Given the description of an element on the screen output the (x, y) to click on. 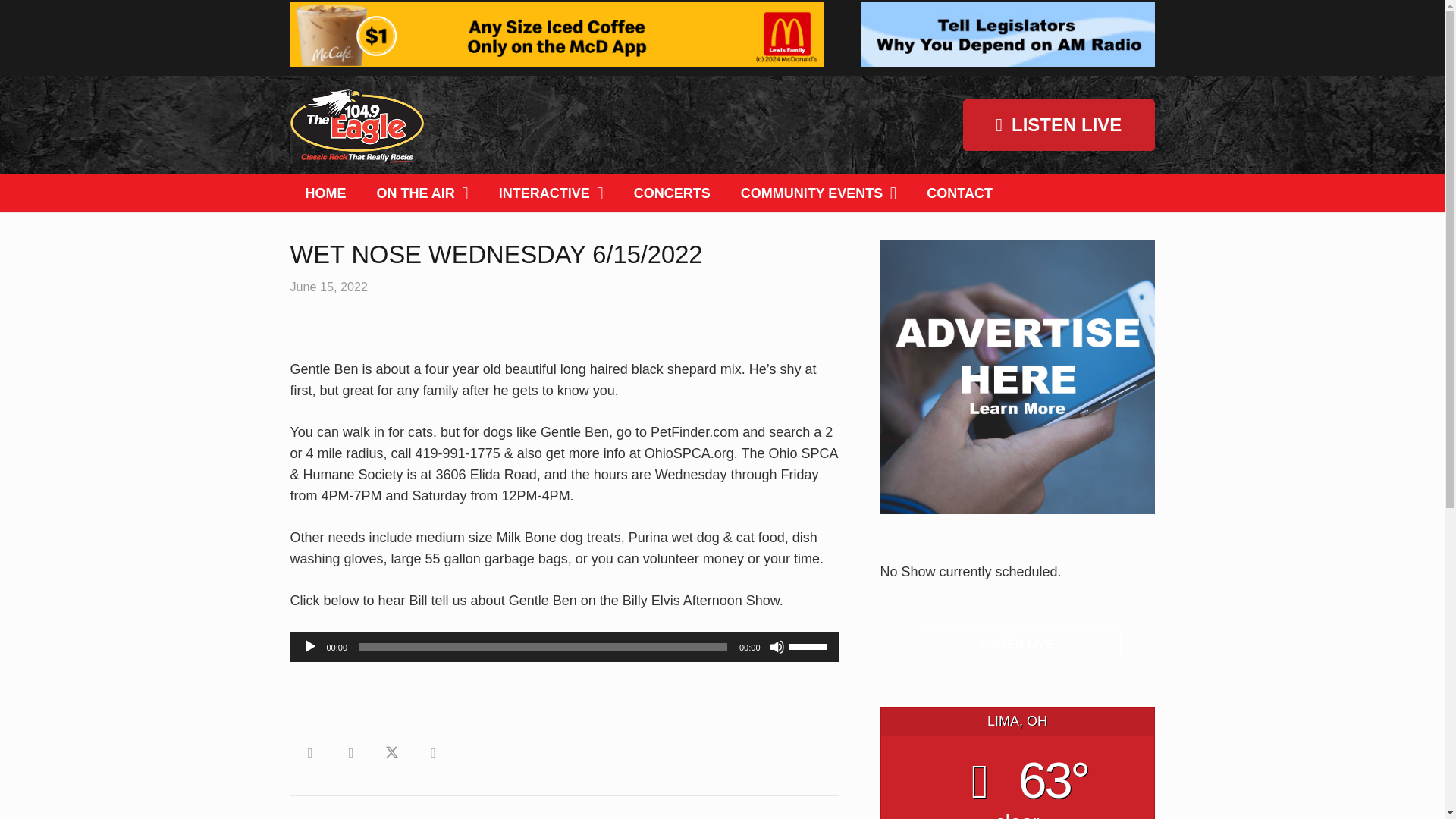
LISTEN LIVE (1058, 124)
Tweet this (391, 752)
INTERACTIVE (550, 193)
HOME (325, 193)
Mute (776, 646)
Share this (350, 752)
Share this (432, 752)
COMMUNITY EVENTS (818, 193)
CONCERTS (671, 193)
Play (309, 646)
ON THE AIR (422, 193)
LISTEN LIVE (1017, 643)
Email this (309, 752)
CONTACT (959, 193)
AM Radio (1007, 34)
